Given the description of an element on the screen output the (x, y) to click on. 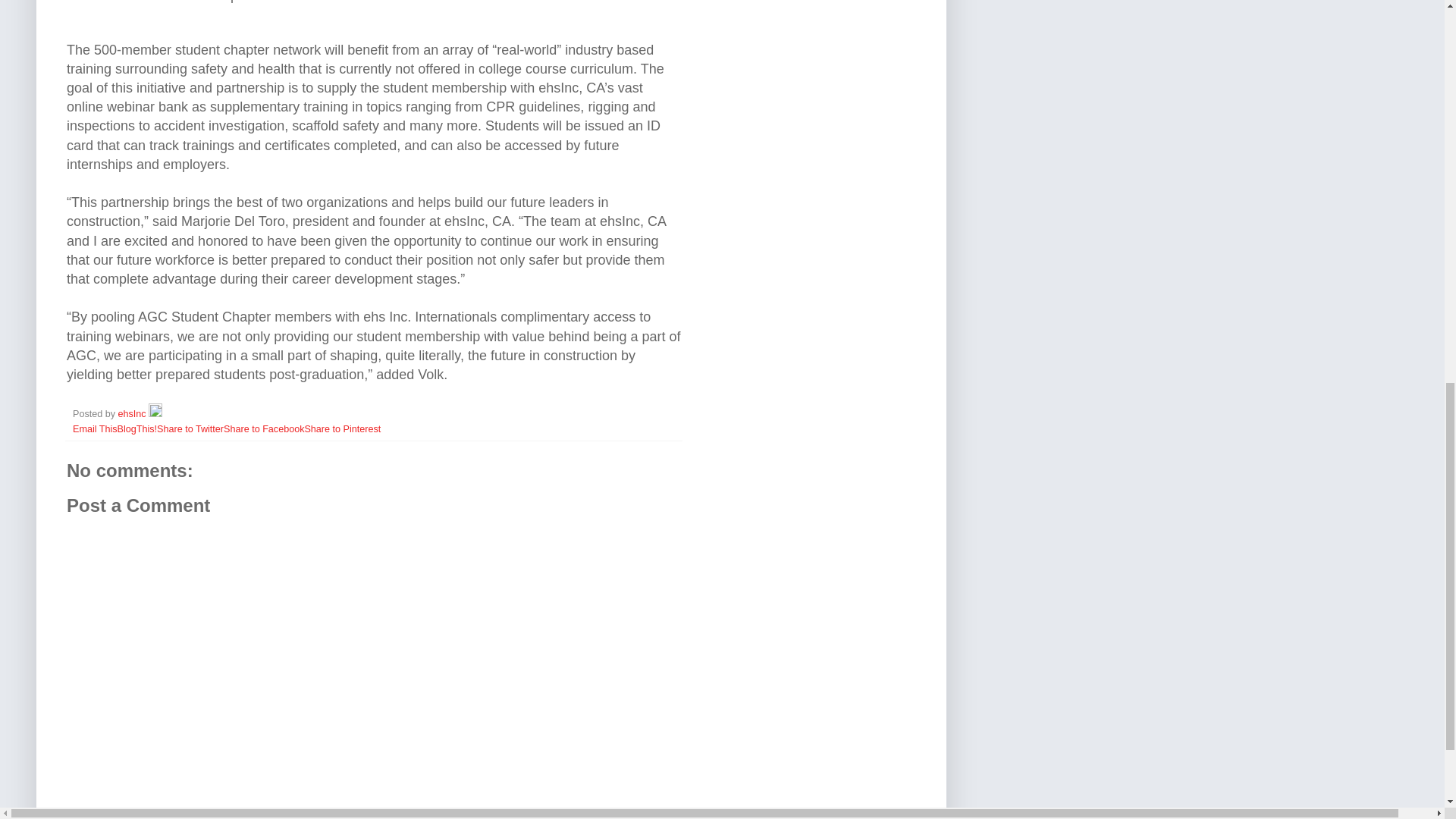
Share to Pinterest (342, 429)
ehsInc (133, 413)
Email This (94, 429)
author profile (133, 413)
Share to Twitter (190, 429)
BlogThis! (137, 429)
Share to Facebook (264, 429)
Share to Twitter (190, 429)
Share to Pinterest (342, 429)
Share to Facebook (264, 429)
